Given the description of an element on the screen output the (x, y) to click on. 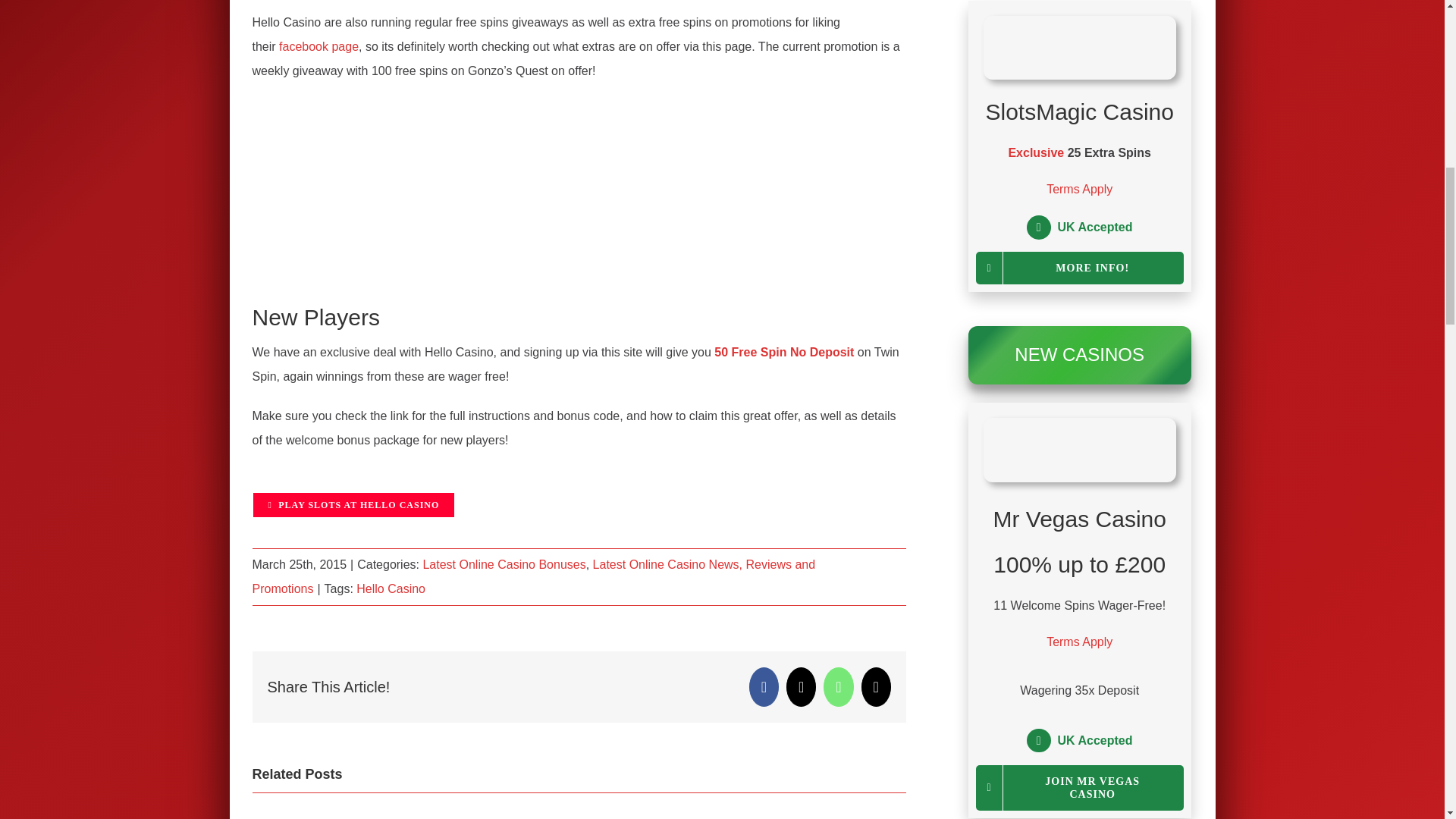
Latest Online Casino News, Reviews and Promotions (533, 576)
Hello Casino (390, 588)
Hello Casino 50 Free Spins No Deposit! (783, 351)
facebook page (318, 46)
50 Free Spin No Deposit (783, 351)
PLAY SLOTS AT HELLO CASINO (352, 504)
Latest Online Casino Bonuses (503, 563)
